Given the description of an element on the screen output the (x, y) to click on. 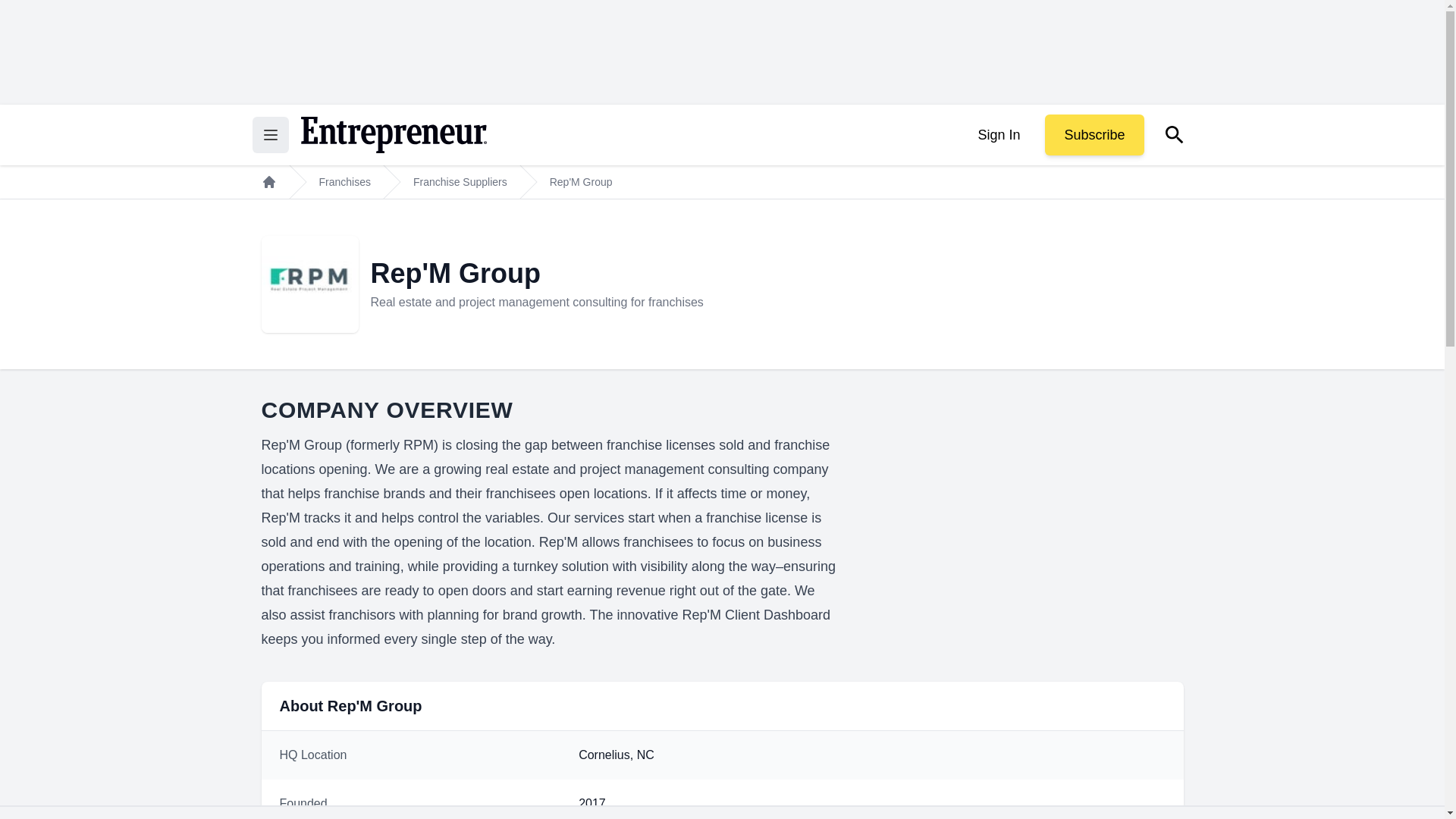
Sign In (998, 134)
Subscribe (1093, 134)
Return to the home page (392, 135)
